Given the description of an element on the screen output the (x, y) to click on. 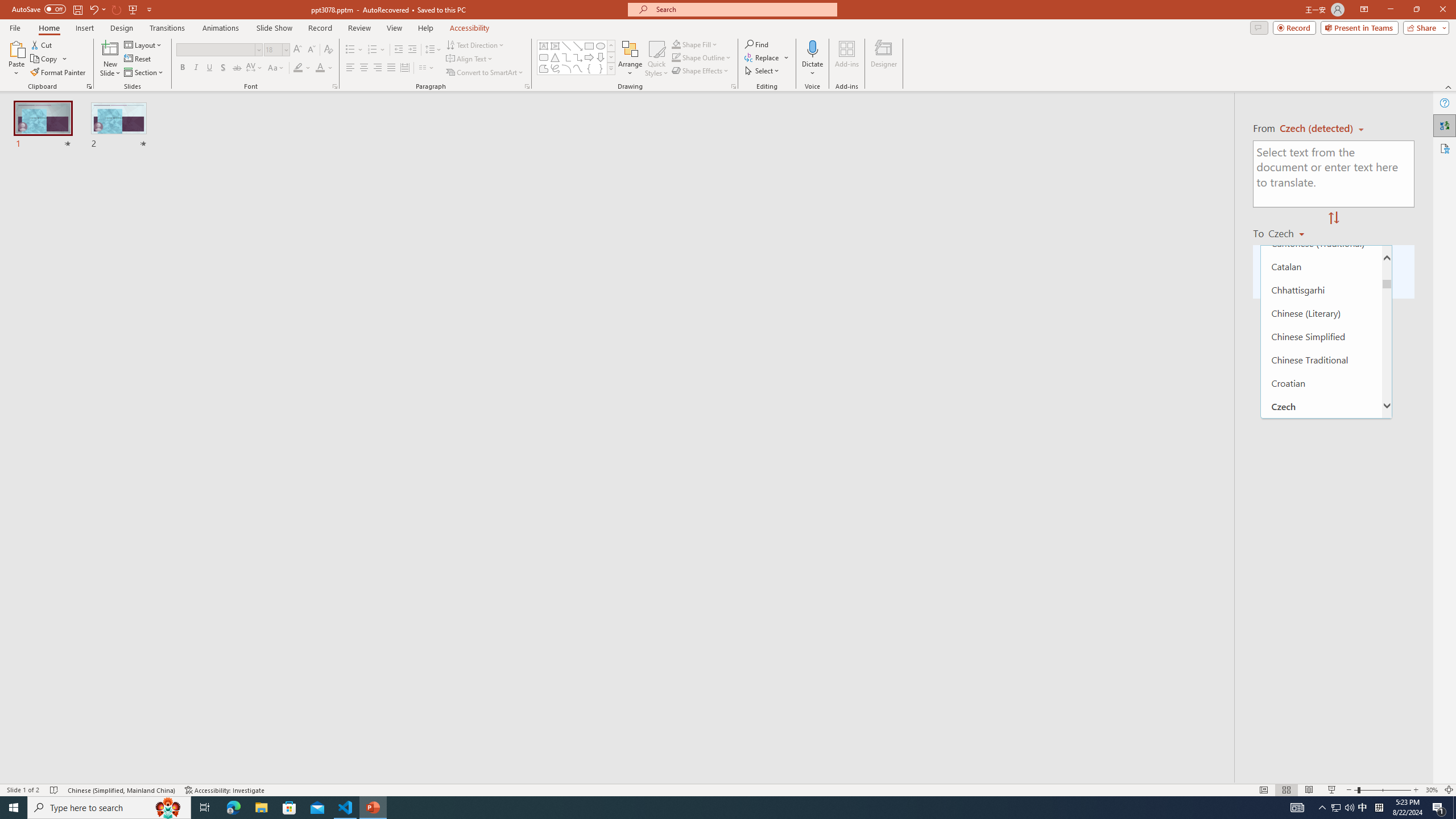
Czech (1291, 232)
Zoom 30% (1431, 790)
Bhojpuri (1320, 149)
